Given the description of an element on the screen output the (x, y) to click on. 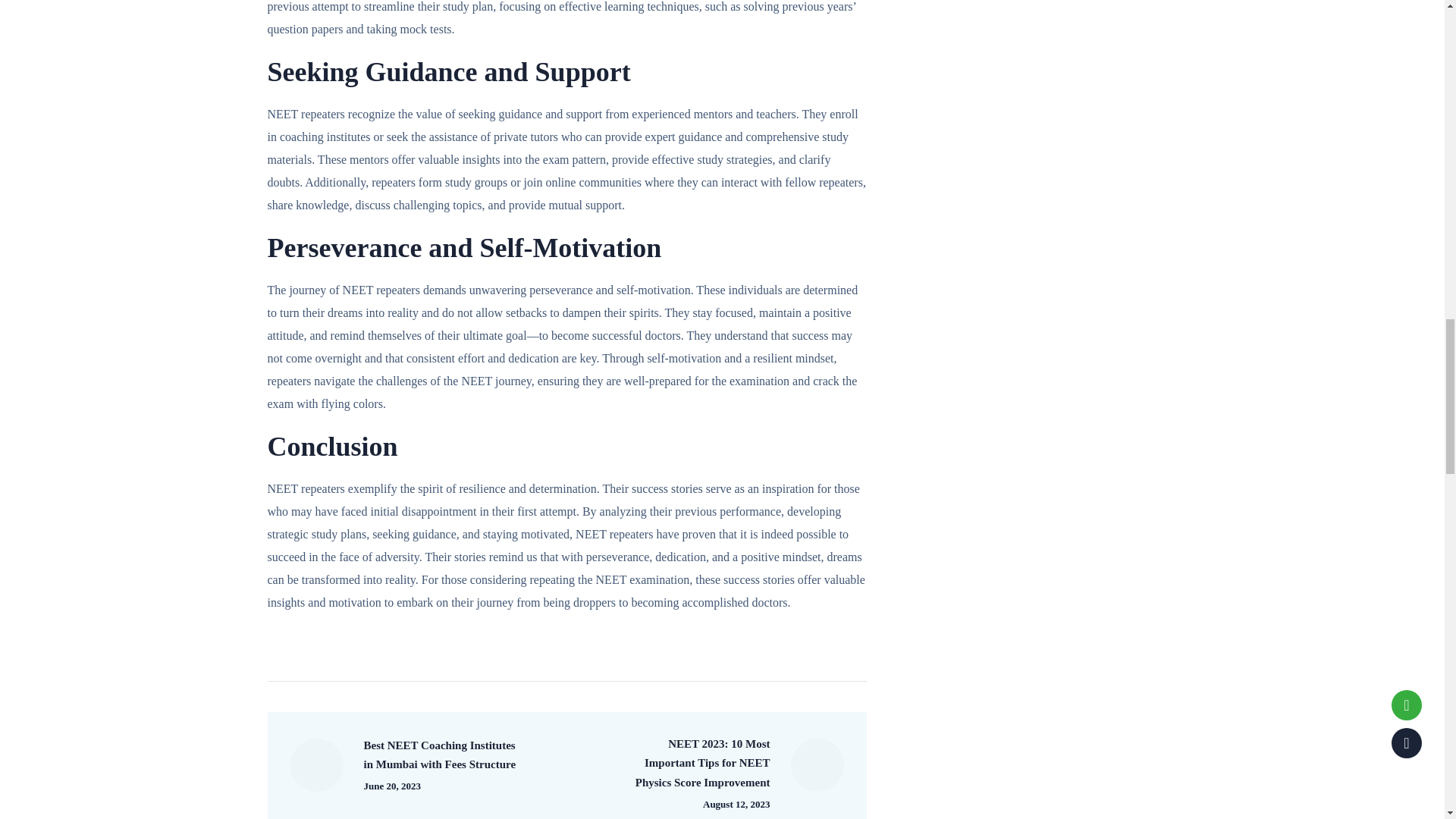
Best NEET Coaching Institutes in Mumbai with Fees Structure (402, 764)
